Given the description of an element on the screen output the (x, y) to click on. 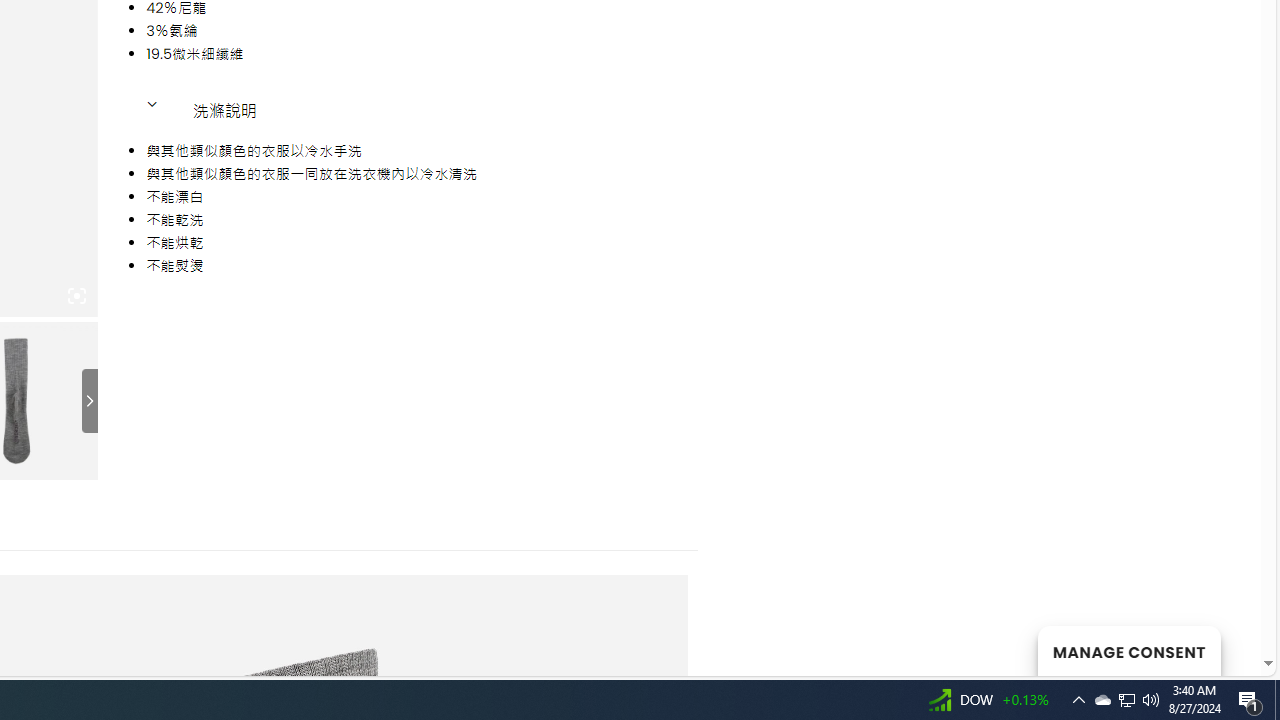
MANAGE CONSENT (1128, 650)
Class: iconic-woothumbs-fullscreen (75, 296)
